Given the description of an element on the screen output the (x, y) to click on. 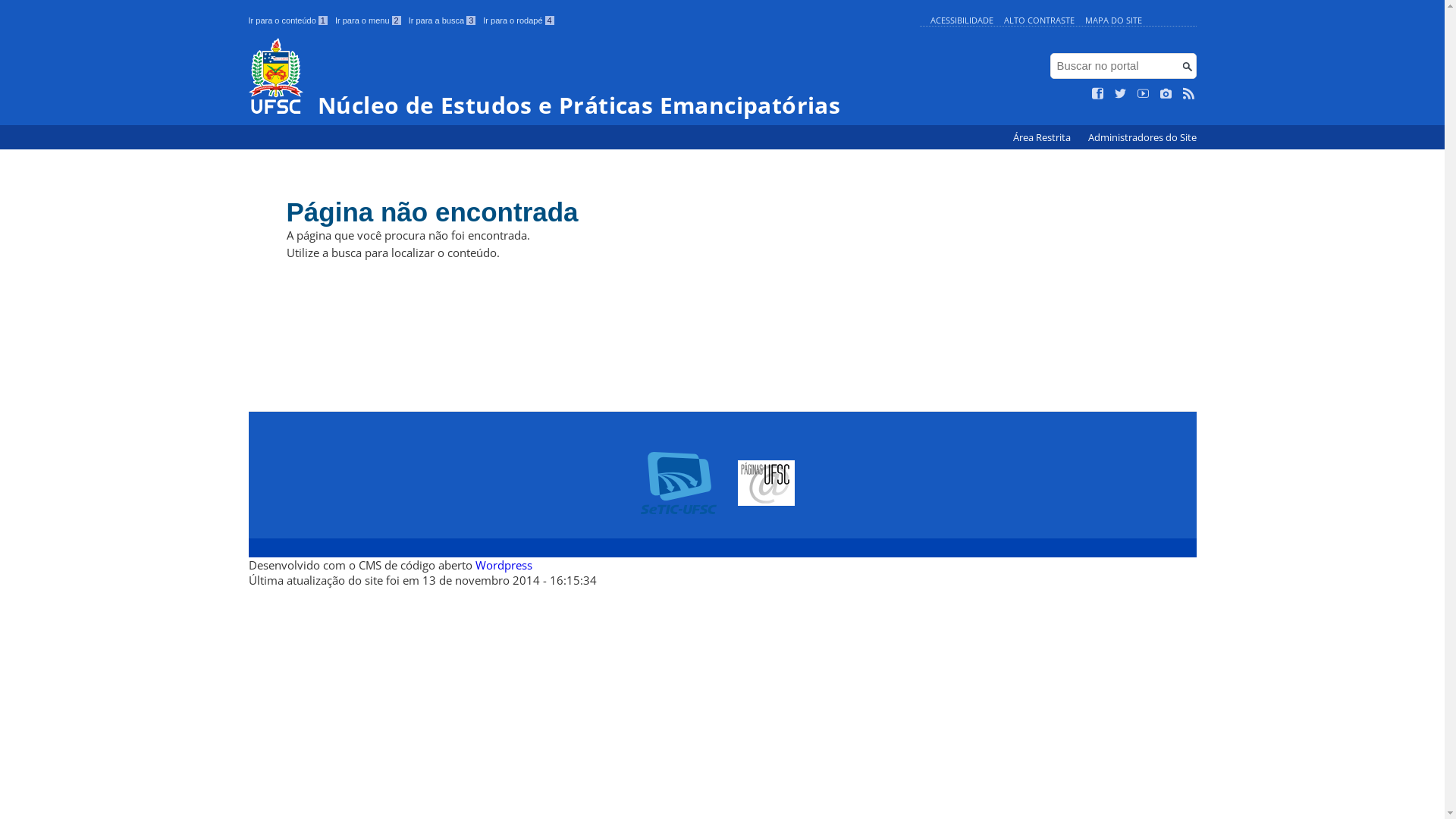
ALTO CONTRASTE Element type: text (1039, 19)
Ir para o menu 2 Element type: text (368, 20)
Siga no Twitter Element type: hover (1120, 93)
Veja no Instagram Element type: hover (1166, 93)
Administradores do Site Element type: text (1141, 137)
MAPA DO SITE Element type: text (1112, 19)
Curta no Facebook Element type: hover (1098, 93)
Ir para a busca 3 Element type: text (442, 20)
ACESSIBILIDADE Element type: text (960, 19)
Wordpress Element type: text (502, 564)
